Given the description of an element on the screen output the (x, y) to click on. 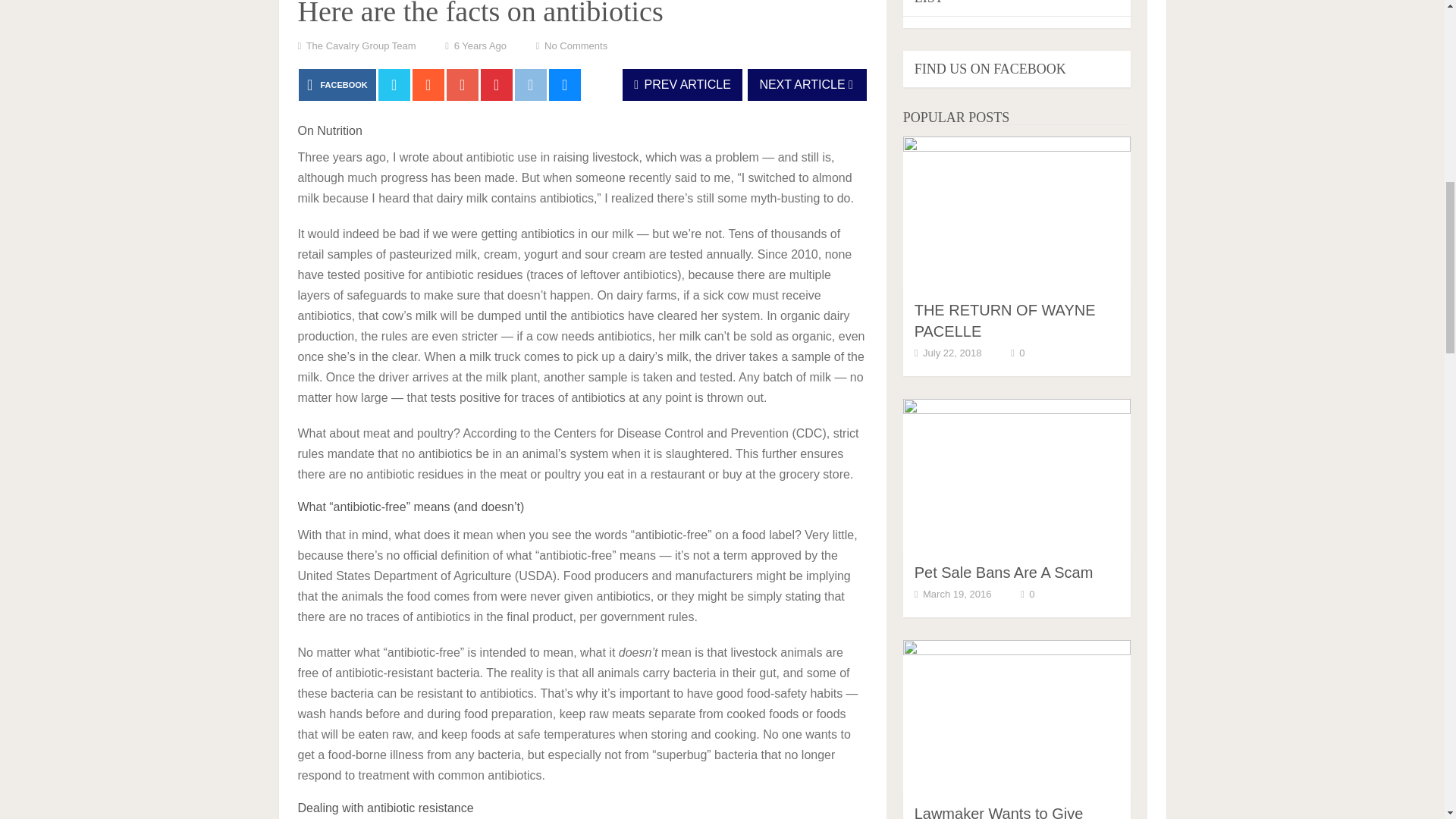
Posts by The Cavalry Group Team (360, 45)
